Given the description of an element on the screen output the (x, y) to click on. 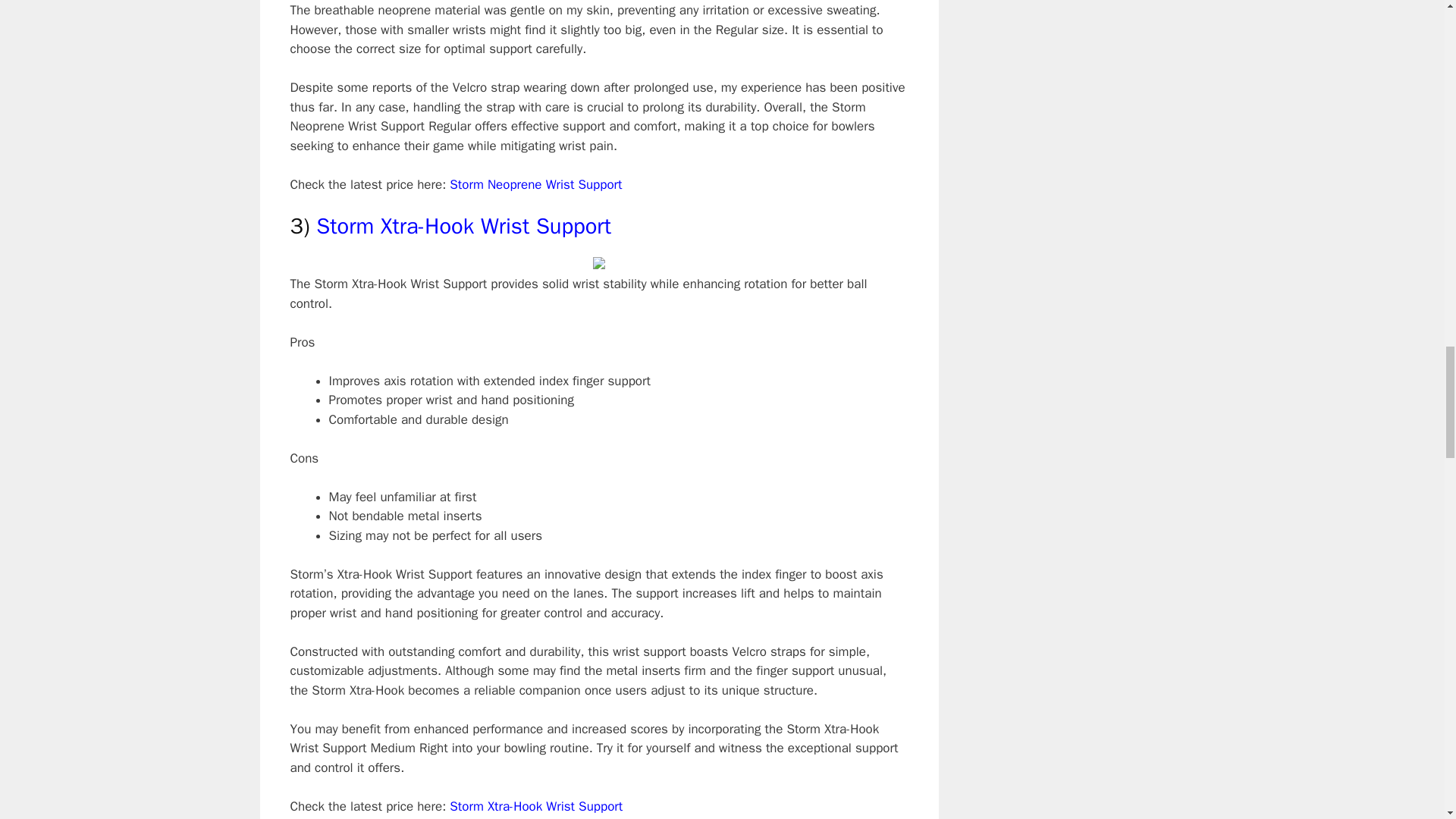
Storm Xtra-Hook Wrist Support (463, 226)
Storm Xtra-Hook Wrist Support (536, 806)
Storm Neoprene Wrist Support (535, 184)
